Given the description of an element on the screen output the (x, y) to click on. 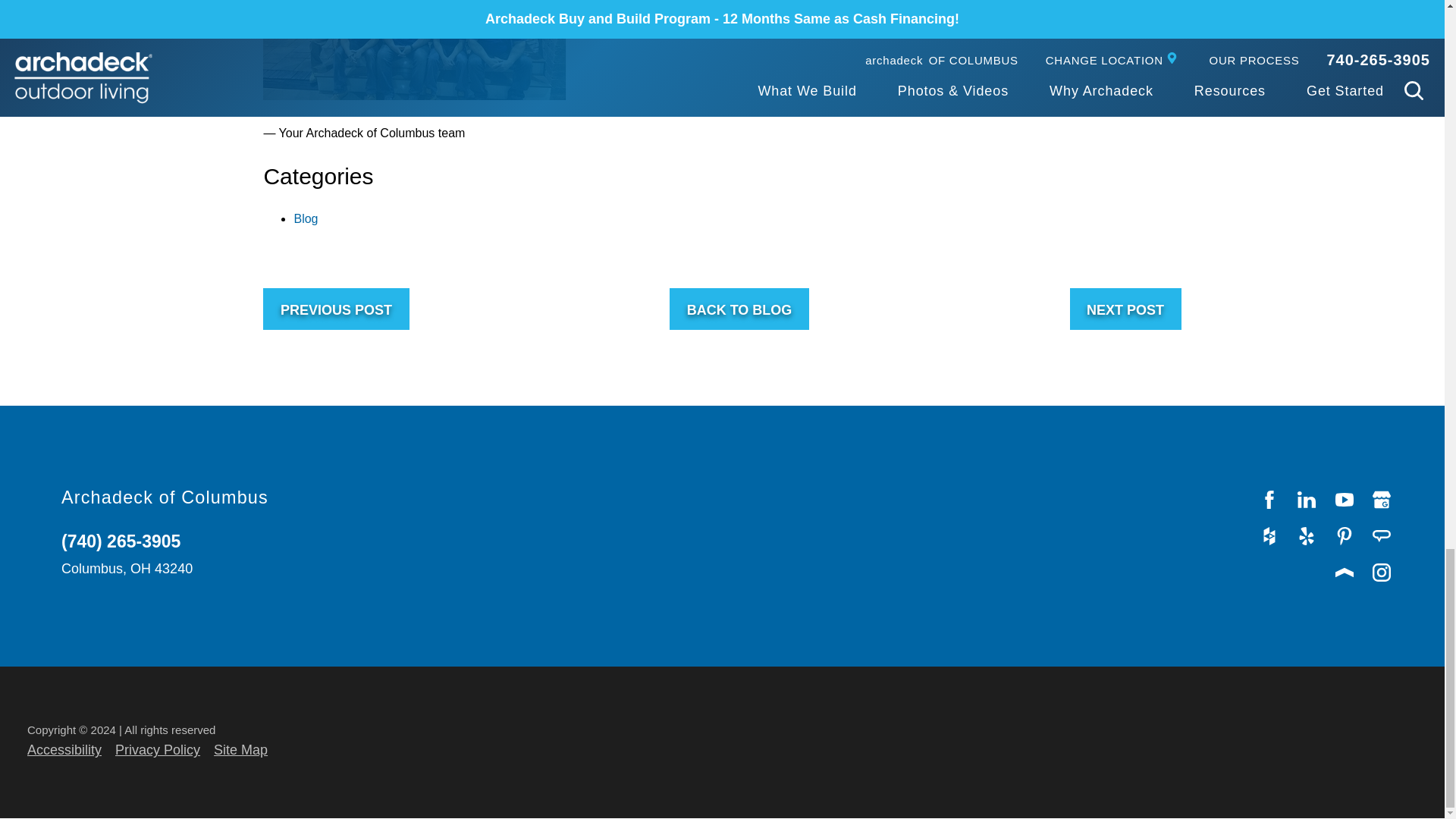
Yelp (1307, 535)
Google My Business (1381, 499)
Facebook (1269, 499)
YouTube (1345, 499)
LinkedIn (1307, 499)
Angie's List (1381, 535)
Instagram (1381, 572)
Pinterest (1345, 535)
Porch (1345, 572)
Houzz (1269, 535)
